Given the description of an element on the screen output the (x, y) to click on. 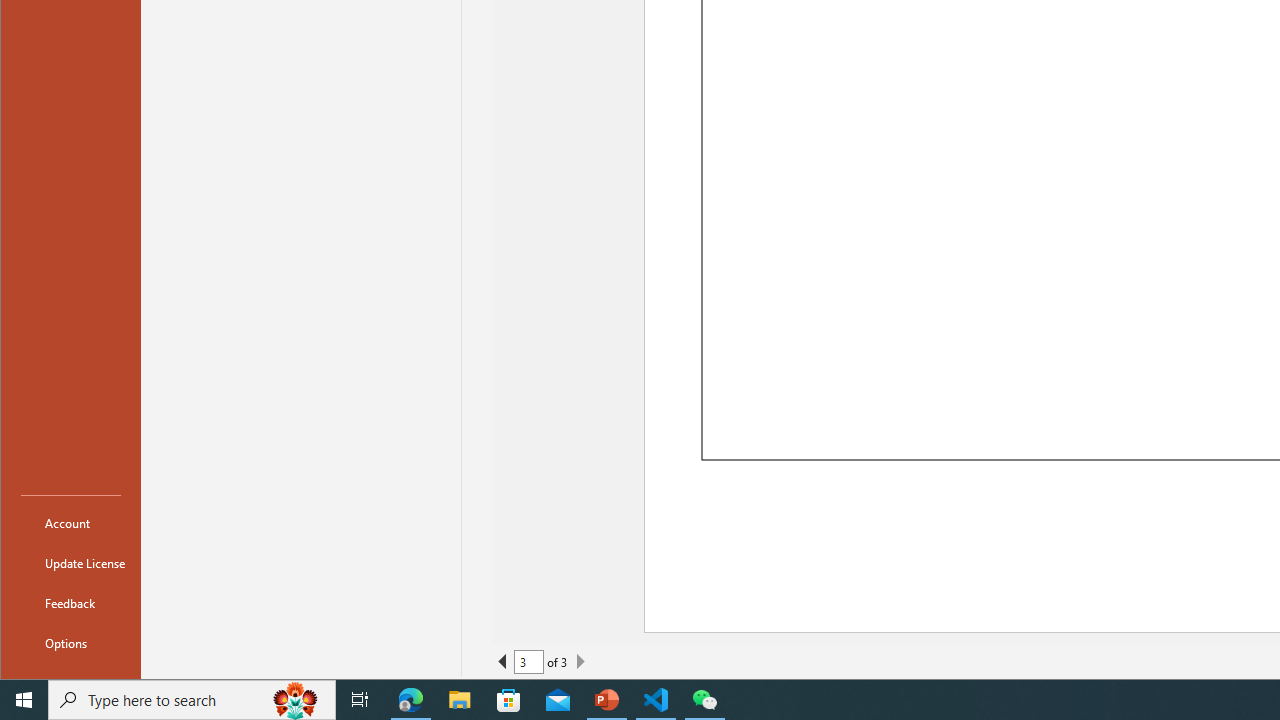
Microsoft Edge - 1 running window (411, 699)
Previous Page (502, 661)
Type here to search (191, 699)
Update License (70, 562)
Account (70, 522)
Task View (359, 699)
Feedback (70, 602)
Options (70, 642)
Visual Studio Code - 1 running window (656, 699)
Current Page (528, 661)
Start (24, 699)
WeChat - 1 running window (704, 699)
Next Page (580, 661)
Search highlights icon opens search home window (295, 699)
Microsoft Store (509, 699)
